Given the description of an element on the screen output the (x, y) to click on. 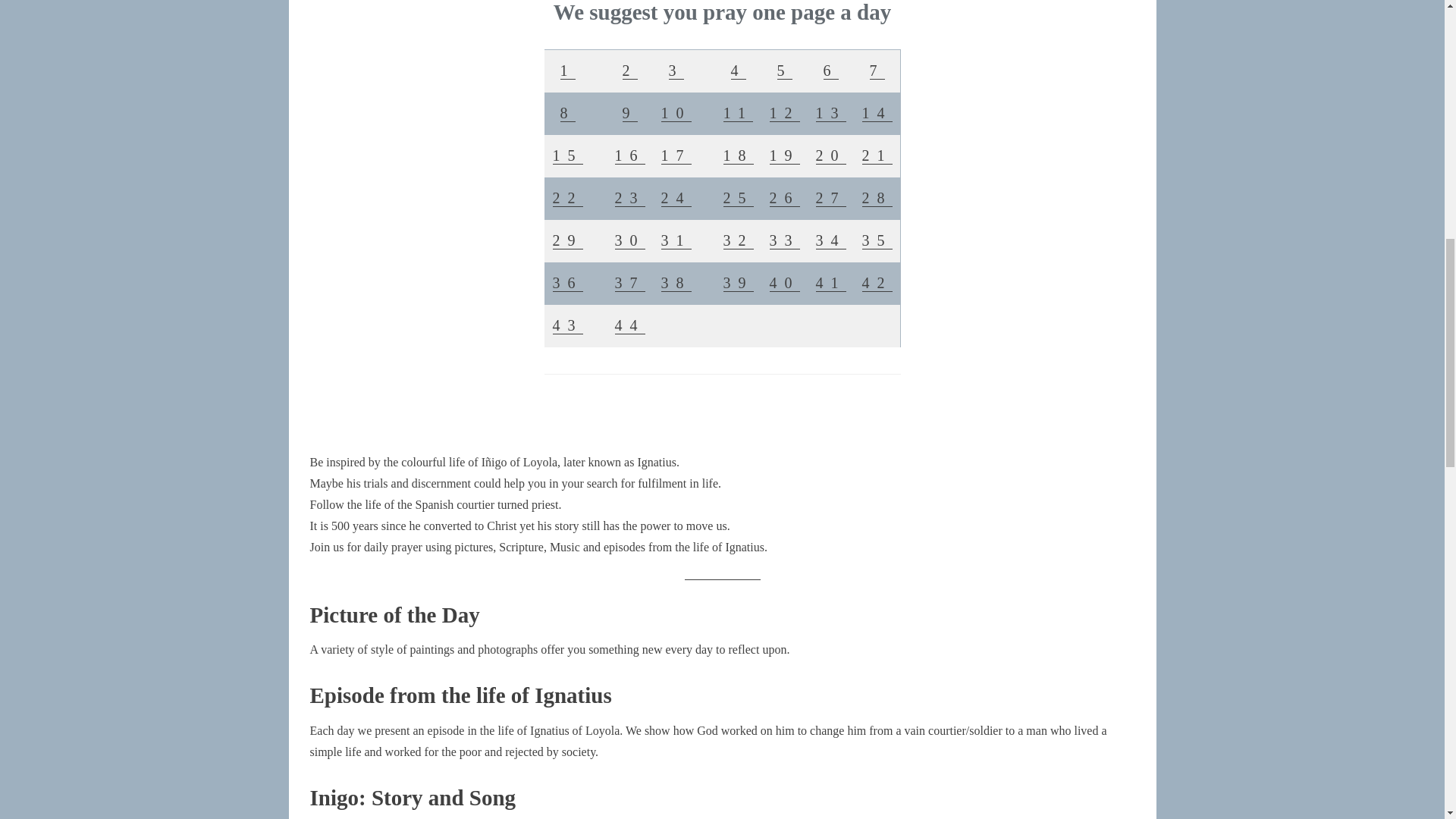
19 (783, 155)
12 (783, 112)
34 (830, 239)
23 (629, 197)
15 (566, 155)
18 (738, 155)
14 (876, 112)
26 (783, 197)
21 (876, 155)
17 (676, 155)
32 (738, 239)
11 (737, 112)
13 (830, 112)
9 (629, 112)
25 (738, 197)
